Given the description of an element on the screen output the (x, y) to click on. 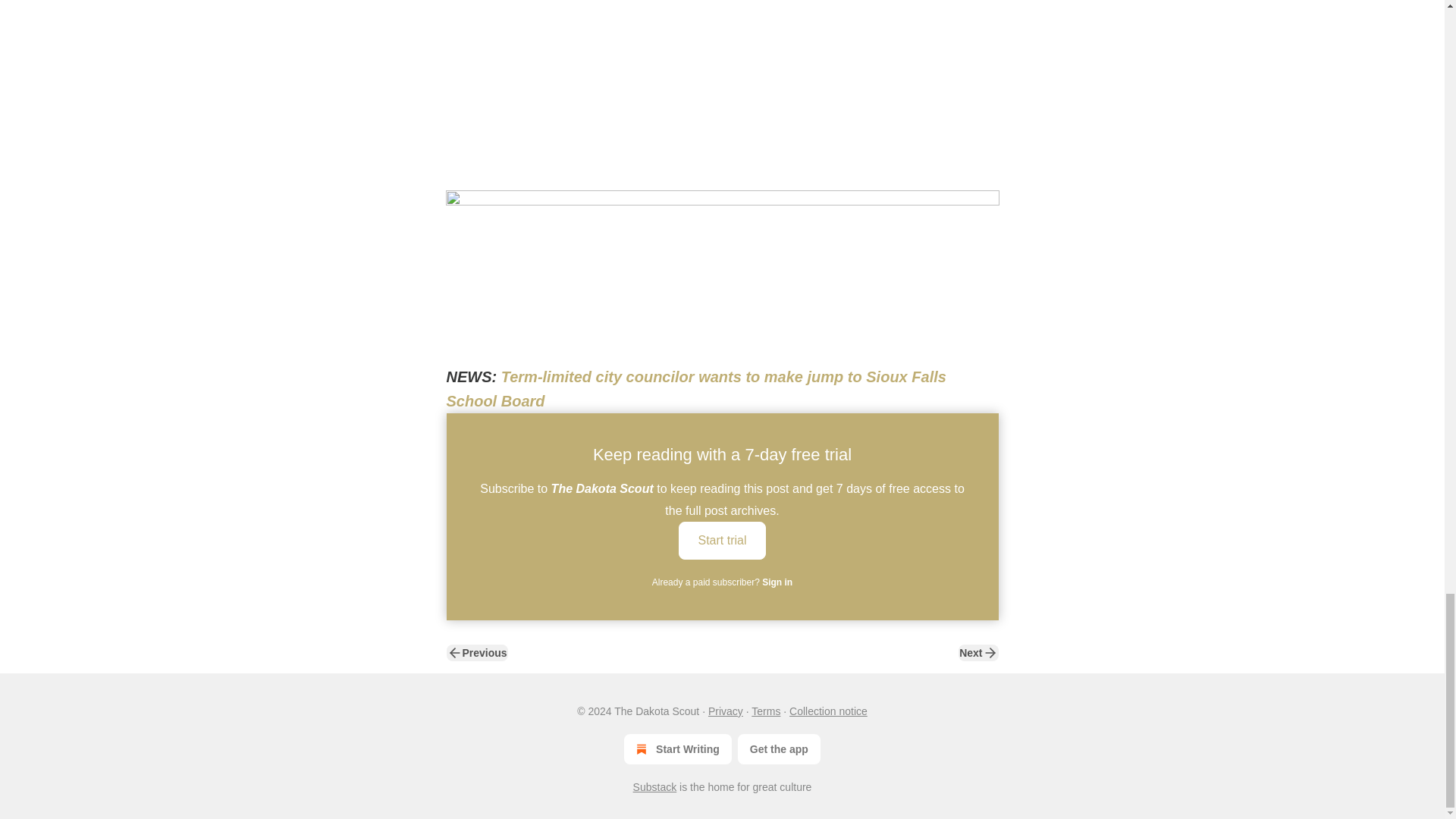
Previous (475, 652)
Next (977, 652)
Start trial (721, 538)
Collection notice (828, 711)
Privacy (724, 711)
Start trial (721, 540)
Terms (765, 711)
Start Writing (678, 748)
Already a paid subscriber? Sign in (722, 582)
